Given the description of an element on the screen output the (x, y) to click on. 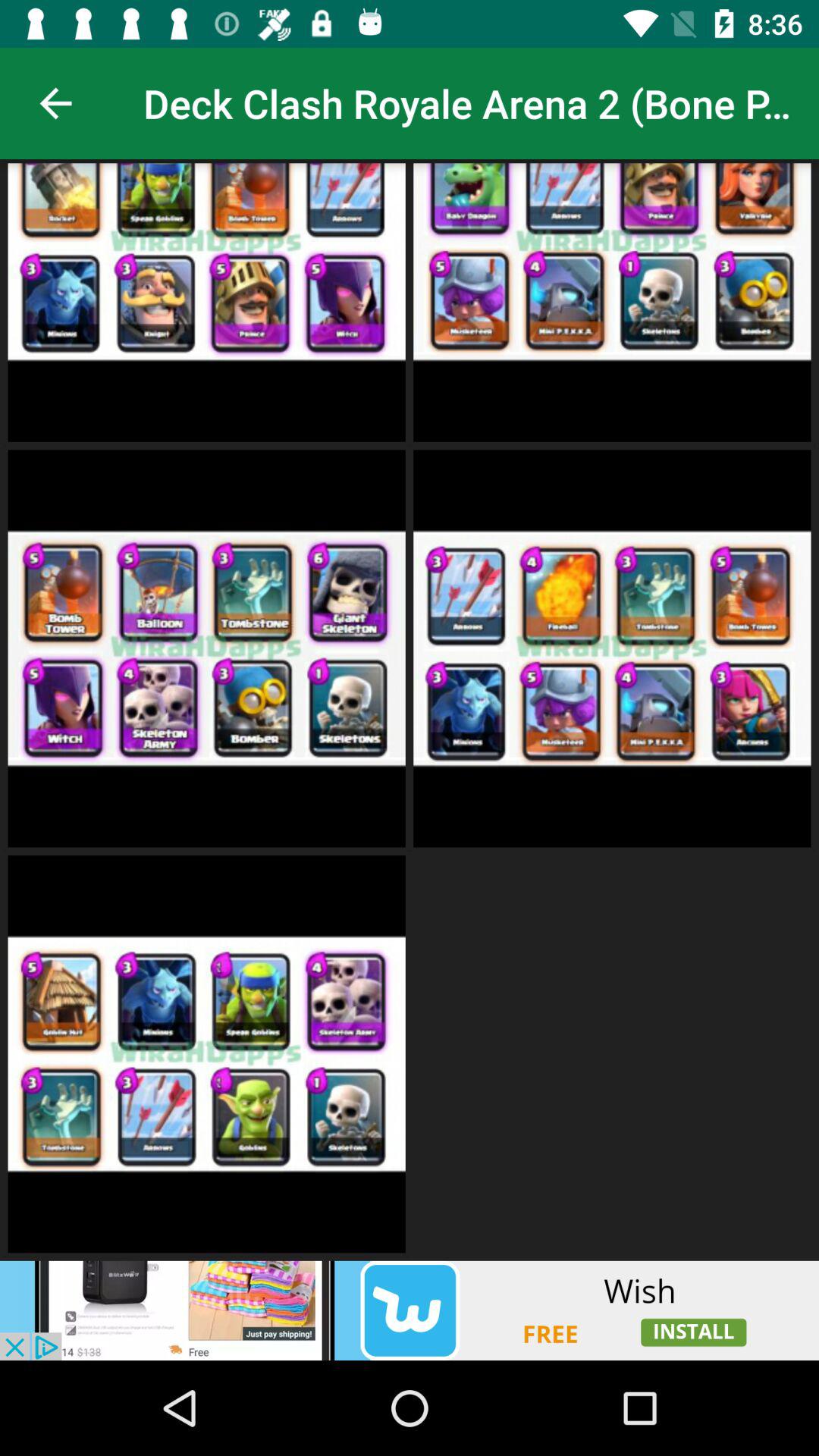
advertisement (409, 1310)
